Given the description of an element on the screen output the (x, y) to click on. 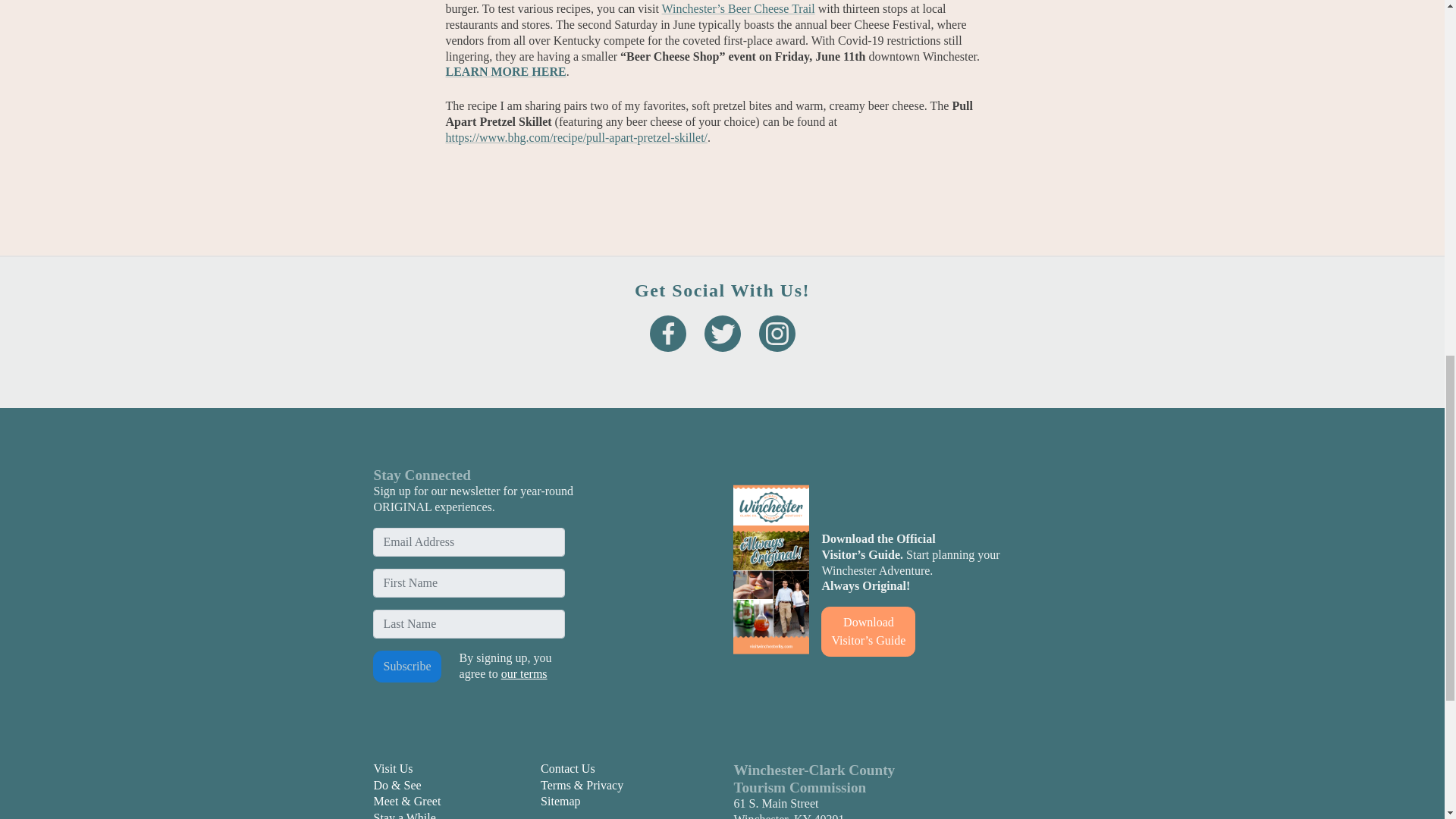
LEARN MORE HERE (505, 71)
Subscribe (406, 666)
Stay a While (403, 815)
Contact Us (567, 768)
Subscribe (406, 666)
Sitemap (559, 800)
Visit Us (392, 768)
our terms (523, 673)
